Given the description of an element on the screen output the (x, y) to click on. 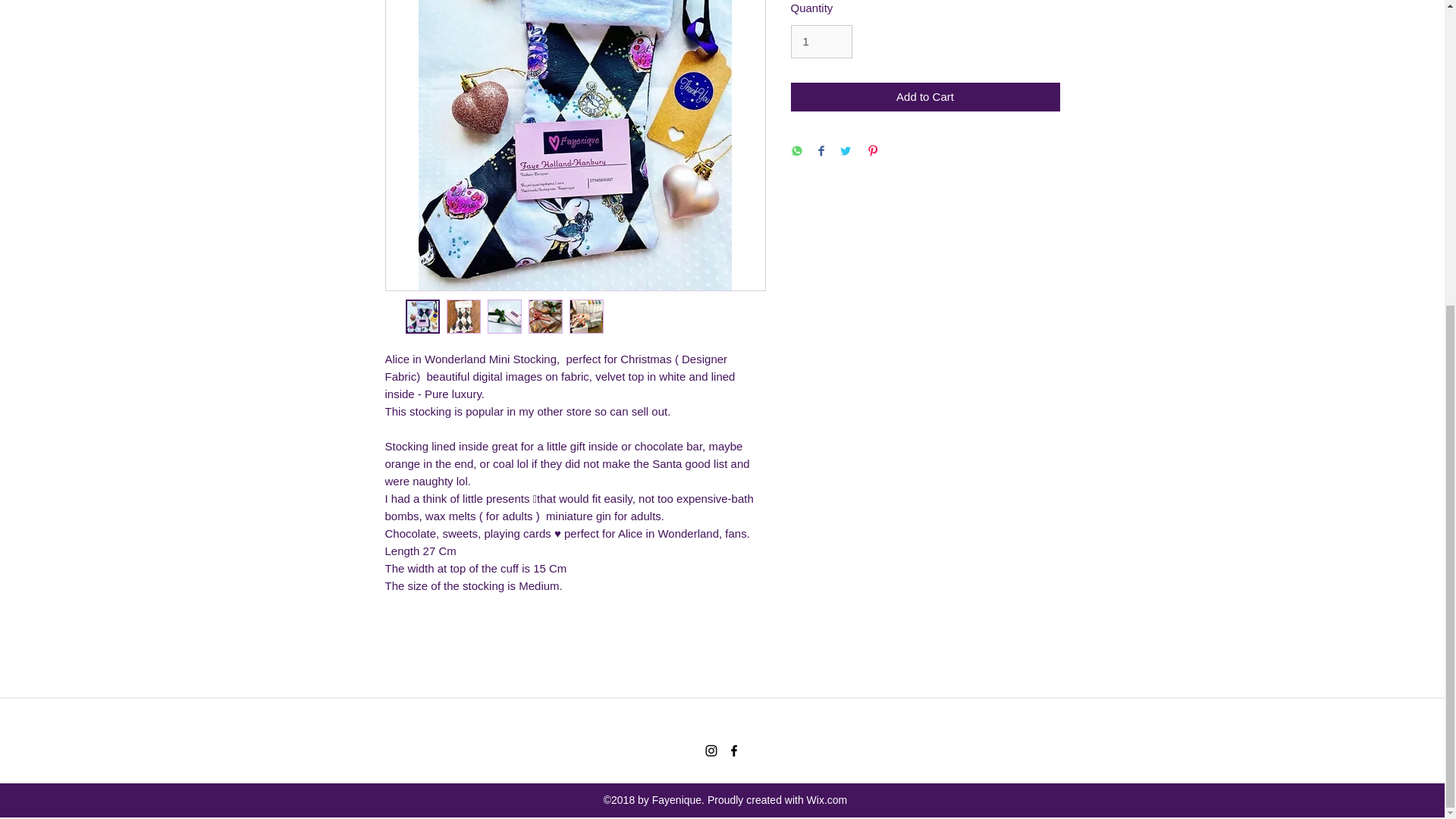
1 (820, 41)
Add to Cart (924, 97)
